Given the description of an element on the screen output the (x, y) to click on. 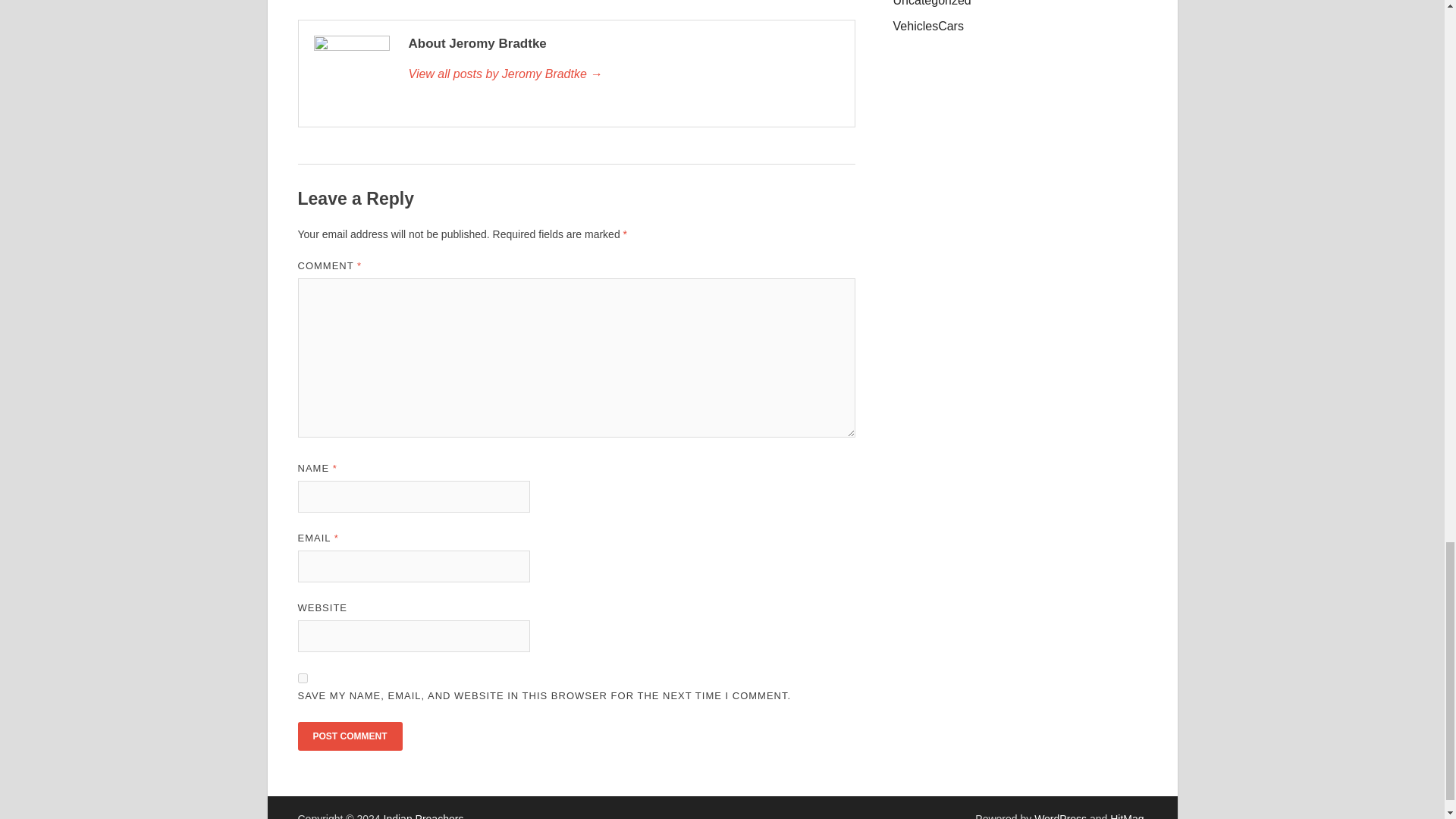
Post Comment (349, 736)
Post Comment (349, 736)
Jeromy Bradtke (622, 74)
yes (302, 678)
